Given the description of an element on the screen output the (x, y) to click on. 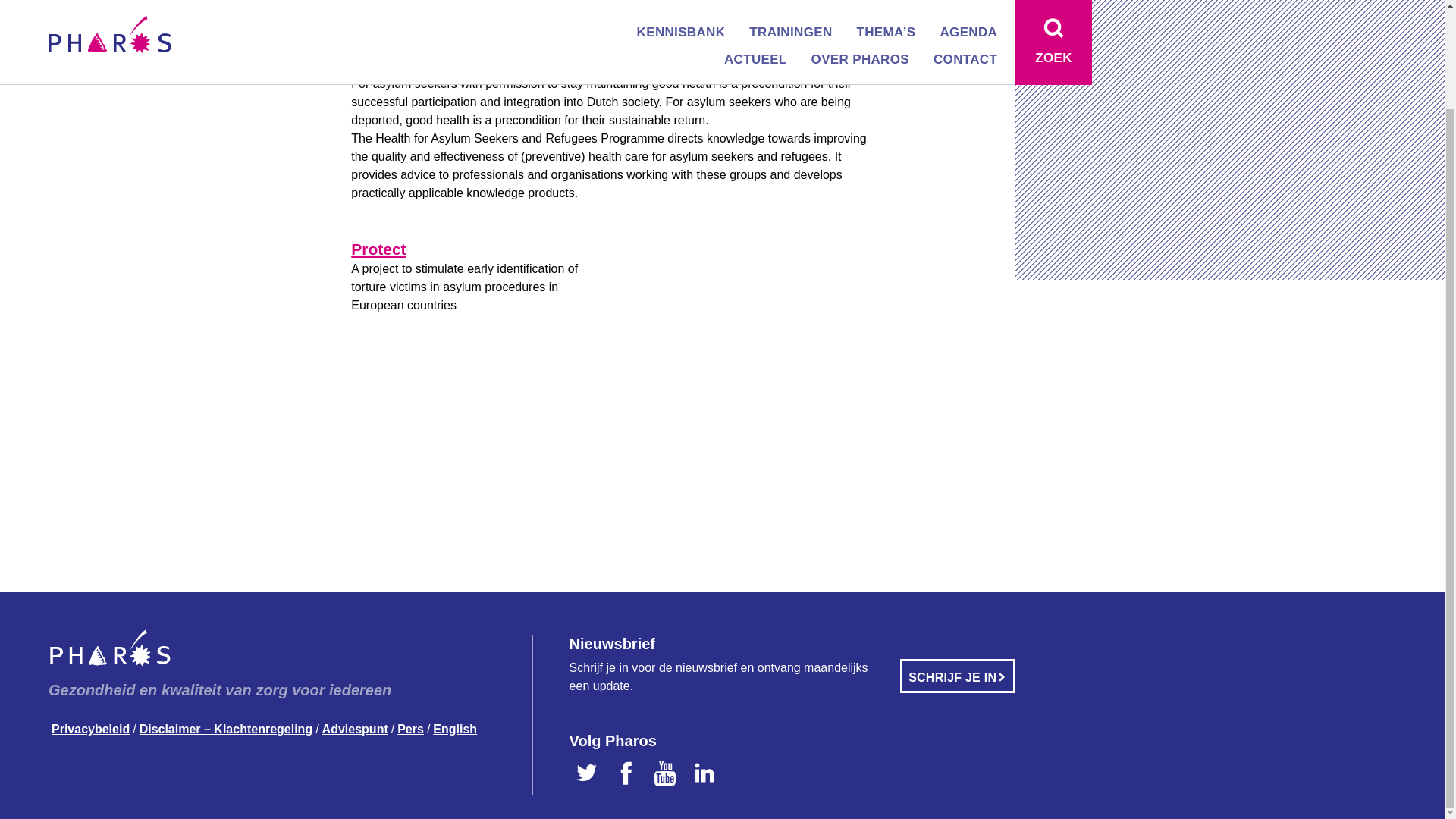
English (454, 729)
Home (63, 15)
Protect (378, 248)
Pers (410, 729)
English (106, 15)
Privacybeleid (90, 729)
Adviespunt (354, 729)
SCHRIJF JE IN (956, 675)
